Given the description of an element on the screen output the (x, y) to click on. 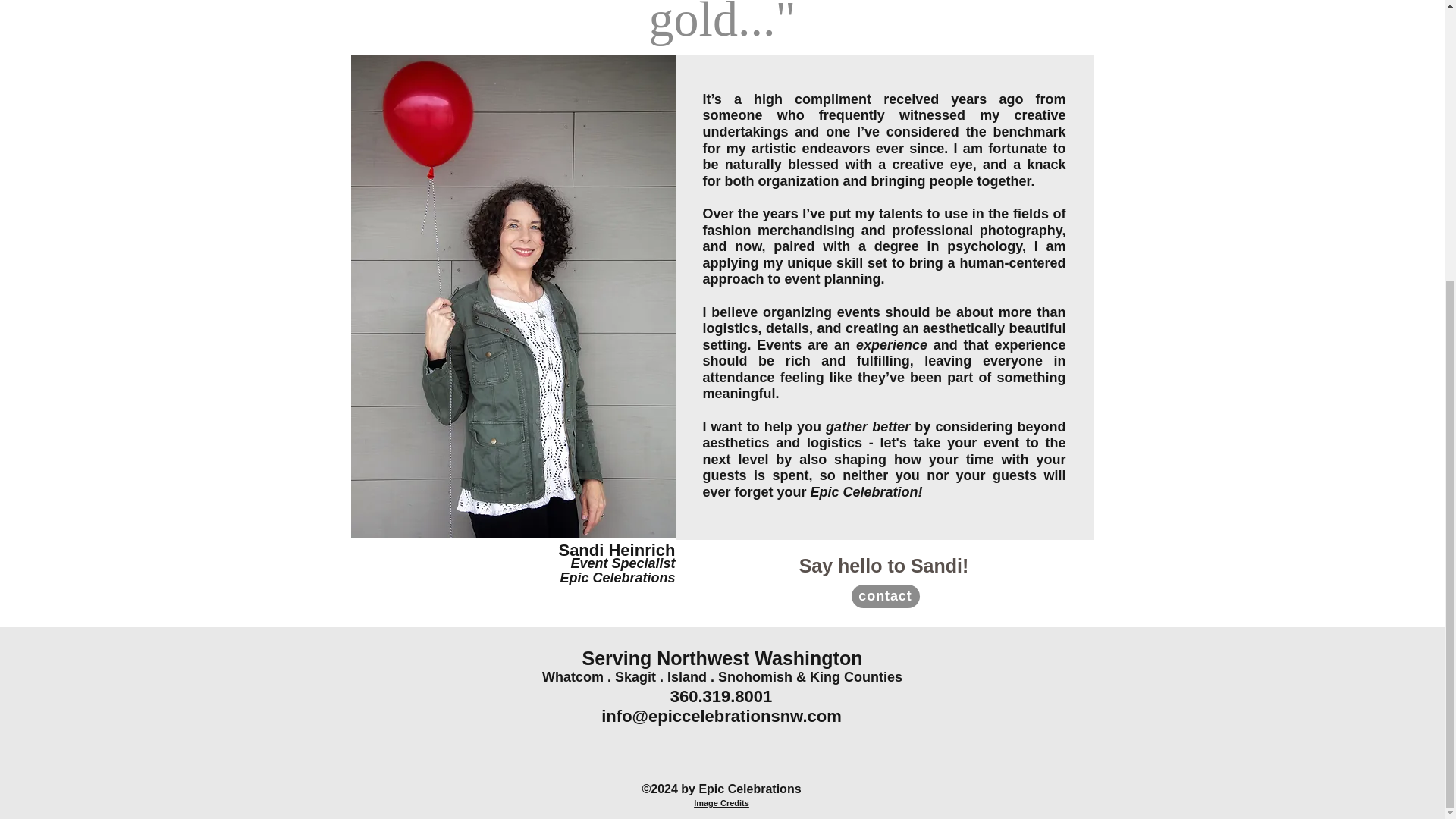
Image Credits (721, 802)
contact (884, 596)
360.319.8001 (721, 696)
Serving Northwest Washington (722, 658)
